Given the description of an element on the screen output the (x, y) to click on. 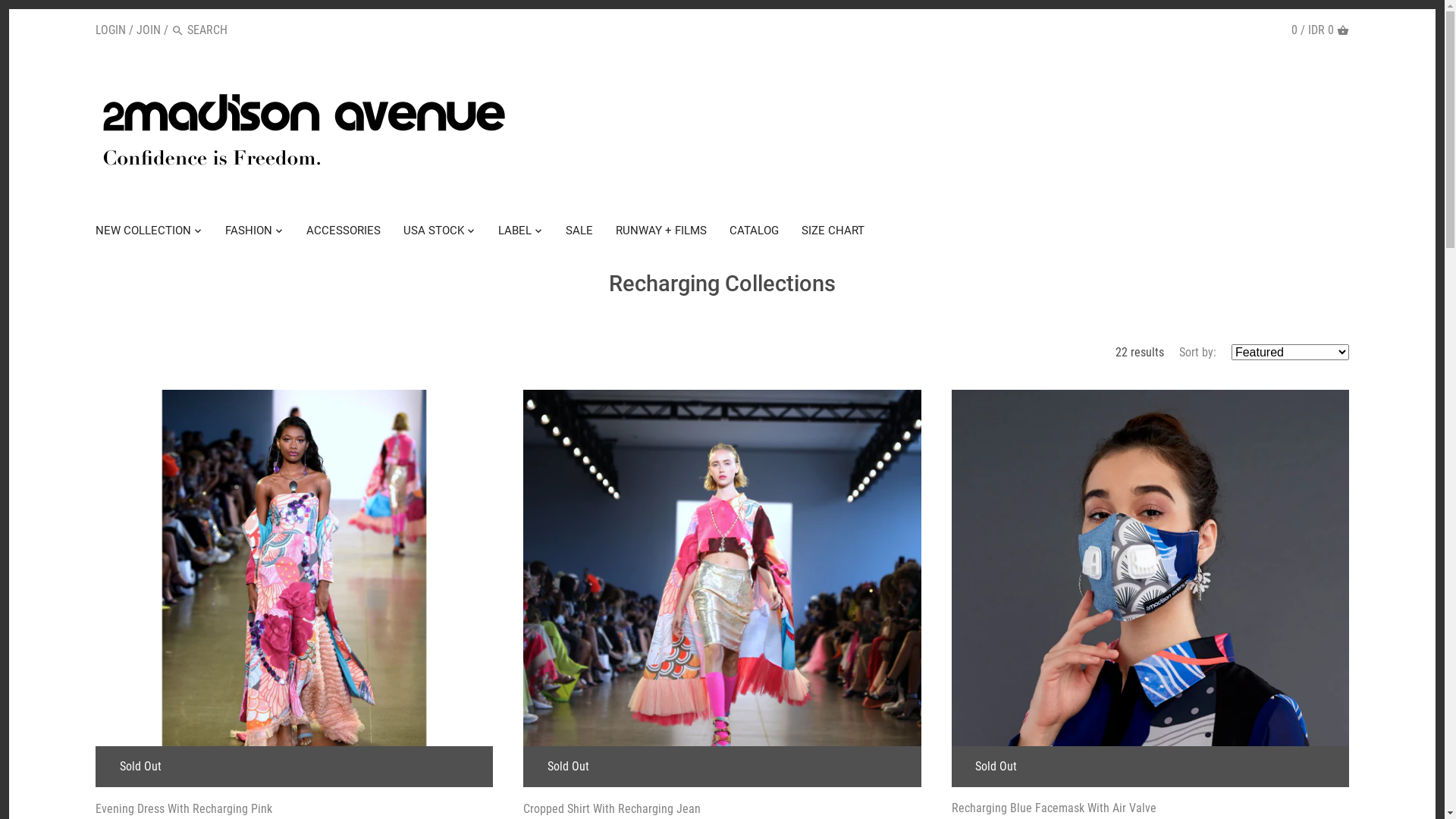
LOGIN Element type: text (110, 29)
ACCESSORIES Element type: text (343, 232)
LABEL Element type: text (514, 232)
SIZE CHART Element type: text (832, 232)
Recharging Blue Facemask With Air Valve Element type: text (1150, 808)
0 / IDR 0 CART Element type: text (1320, 29)
USA STOCK Element type: text (433, 232)
RUNWAY + FILMS Element type: text (661, 232)
NEW COLLECTION Element type: text (148, 232)
JOIN Element type: text (148, 29)
Cropped Shirt With Recharging Jean Element type: text (721, 808)
Search Element type: text (177, 31)
SALE Element type: text (579, 232)
FASHION Element type: text (248, 232)
CATALOG Element type: text (754, 232)
Evening Dress With Recharging Pink Element type: text (293, 808)
